Given the description of an element on the screen output the (x, y) to click on. 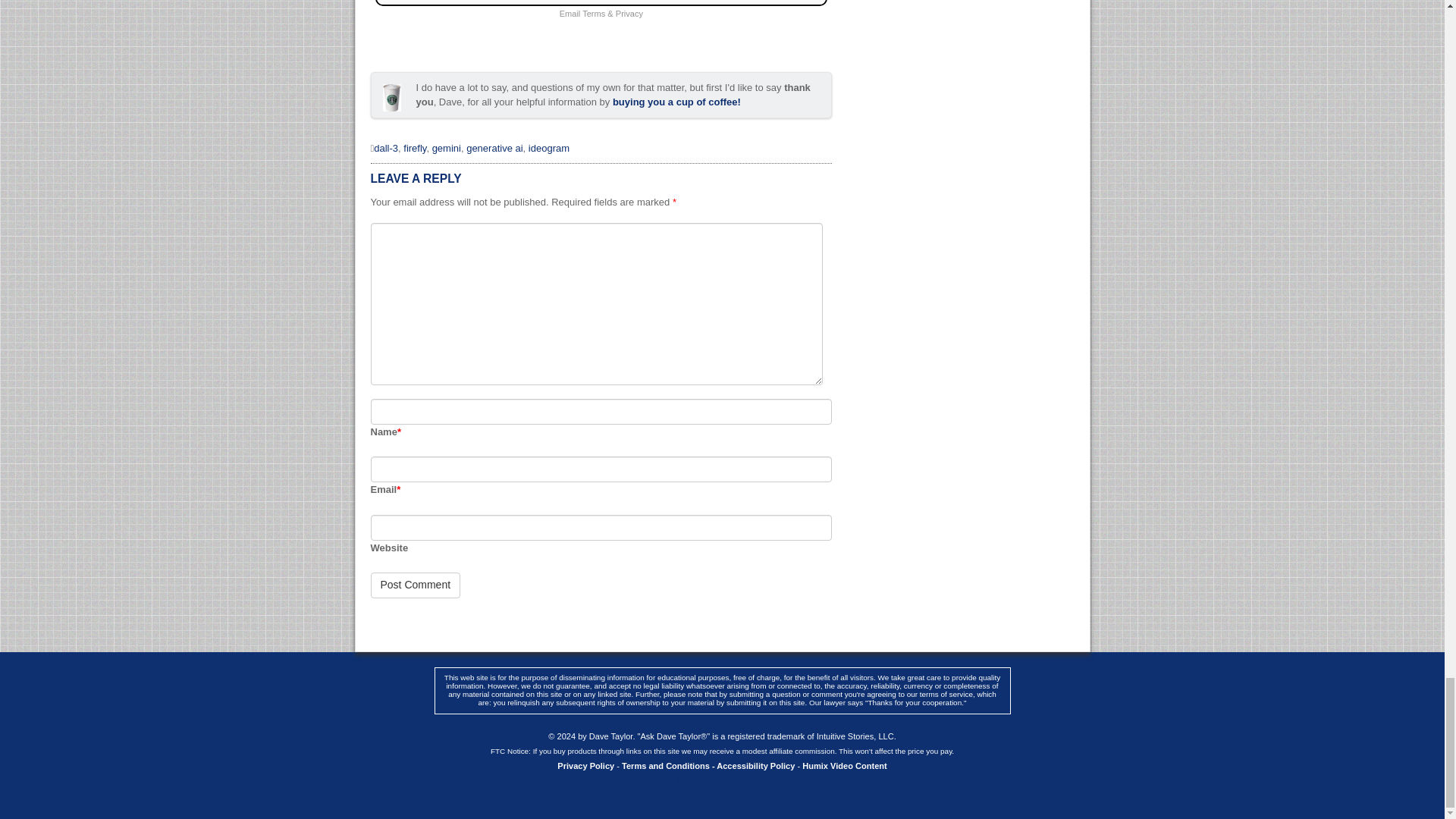
Privacy (629, 13)
Post Comment (414, 585)
Terms (593, 13)
Email subscriptions terms of service (593, 13)
Email subscriptions privacy policy (629, 13)
